Given the description of an element on the screen output the (x, y) to click on. 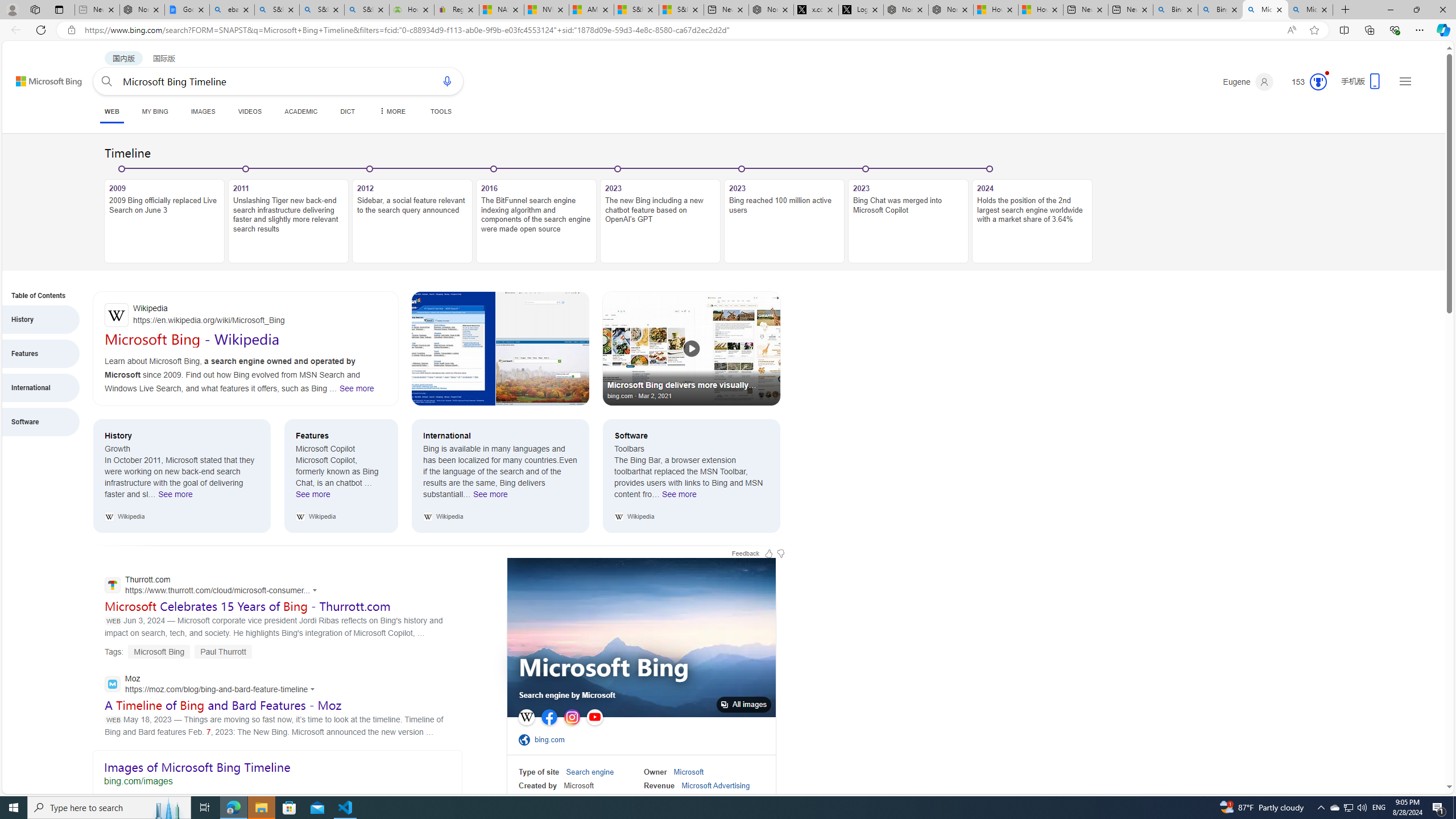
Microsoft Rewards 153 (1304, 81)
ACADEMIC (300, 111)
TOOLS (440, 111)
See more GeneratedCaptionsTabForHeroSec (356, 388)
IMAGES (202, 111)
How the S&P 500 Performed During Major Market Crashes (411, 9)
